Given the description of an element on the screen output the (x, y) to click on. 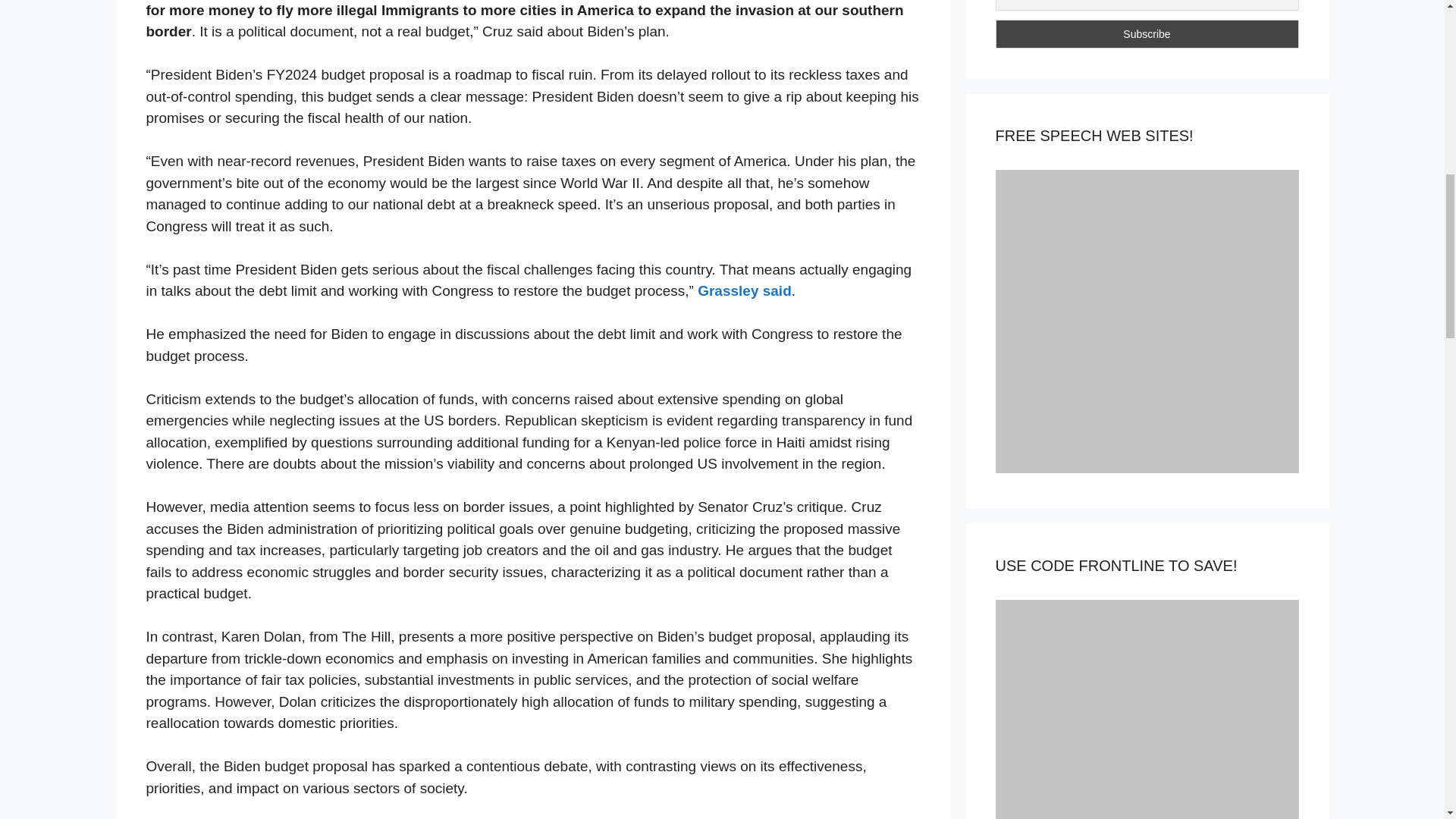
Grassley said (744, 290)
Grassley said (744, 290)
Subscribe (1146, 33)
